Given the description of an element on the screen output the (x, y) to click on. 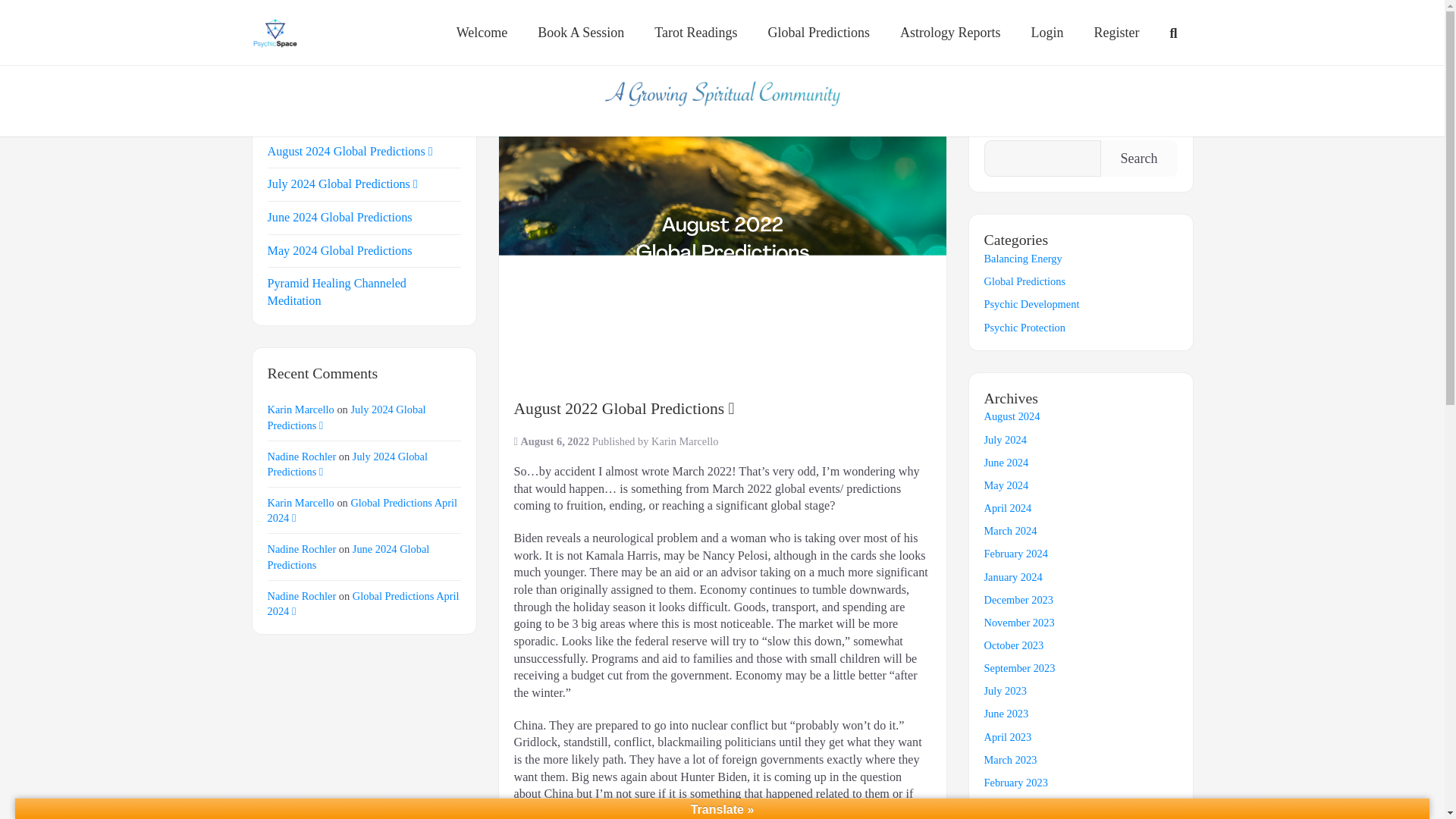
Book A Session (580, 33)
Global Predictions (817, 33)
Login (1046, 33)
Karin Marcello (683, 440)
Tarot Readings (695, 33)
Welcome (481, 33)
Astrology Reports (950, 33)
August 6, 2022 (555, 440)
Register (1116, 33)
